Given the description of an element on the screen output the (x, y) to click on. 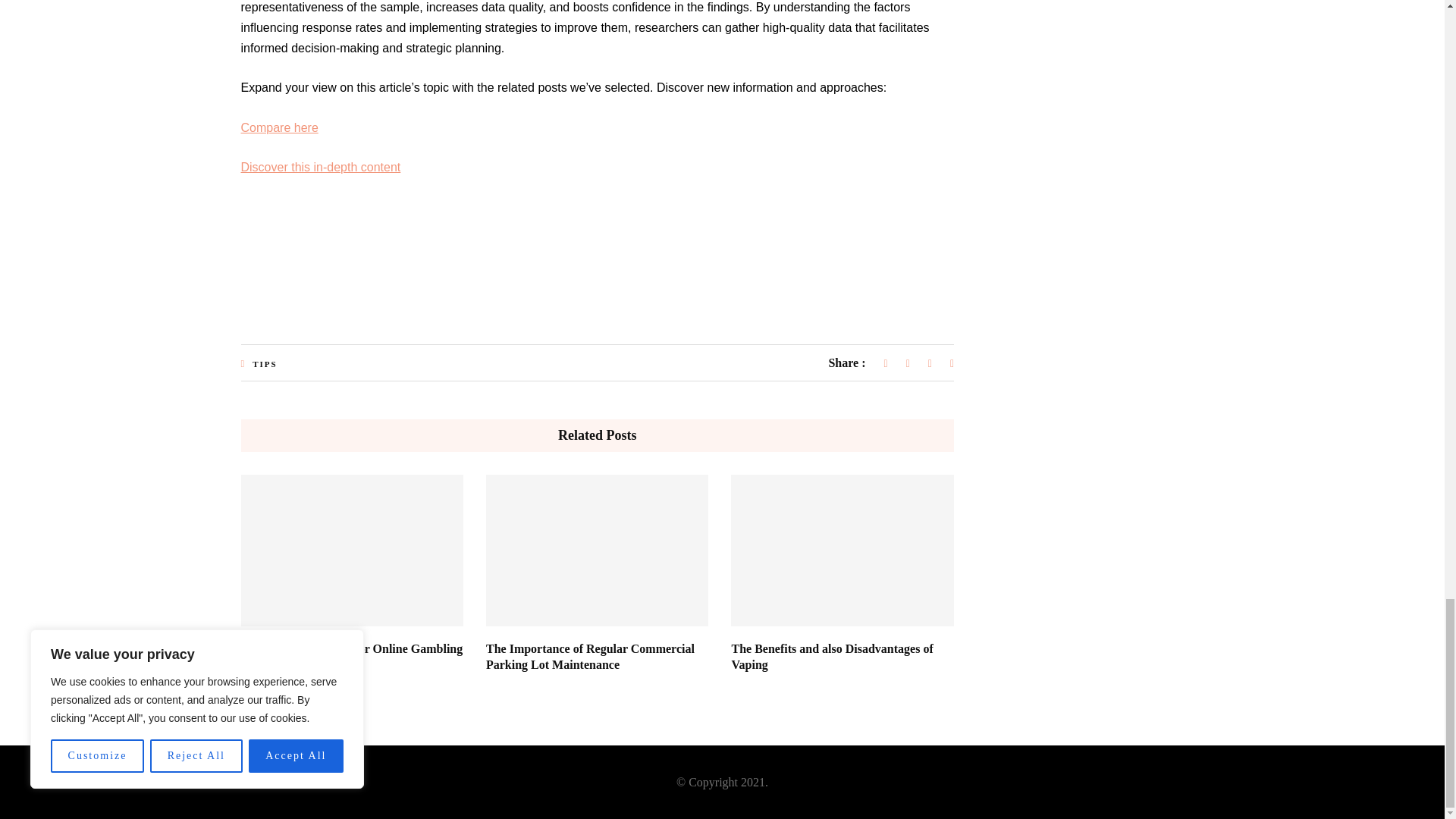
Regulatory Measures for Online Gambling Websites (352, 656)
Compare here (279, 127)
TIPS (263, 363)
Discover this in-depth content (321, 166)
The Importance of Regular Commercial Parking Lot Maintenance (590, 656)
